Given the description of an element on the screen output the (x, y) to click on. 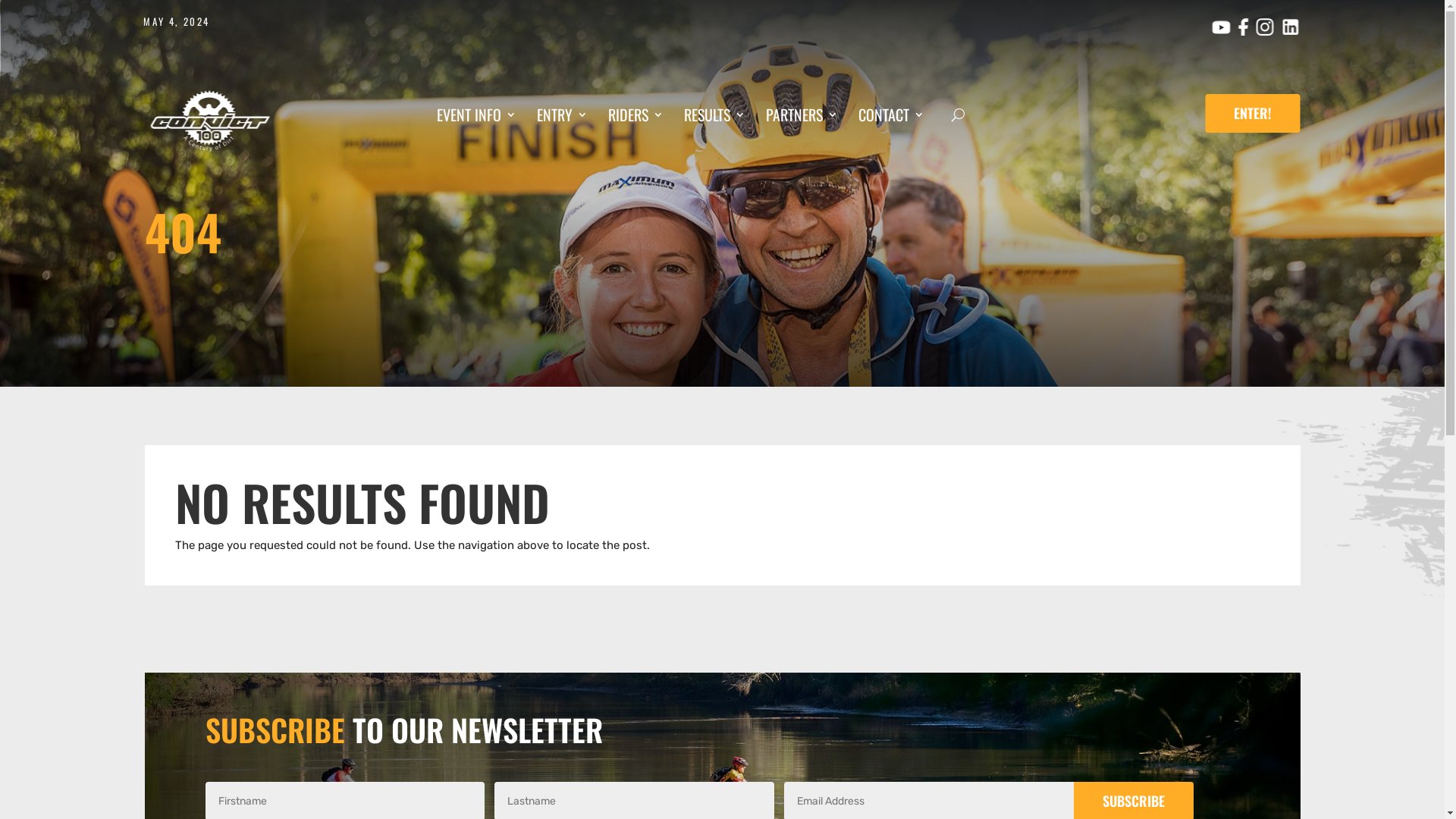
EVENT INFO Element type: text (476, 117)
PARTNERS Element type: text (801, 117)
ENTRY Element type: text (561, 117)
ENTER! Element type: text (1251, 113)
CONTACT Element type: text (891, 117)
RESULTS Element type: text (714, 117)
RIDERS Element type: text (635, 117)
Max Adventure Convict 100 Main Logo Element type: hover (208, 121)
